Given the description of an element on the screen output the (x, y) to click on. 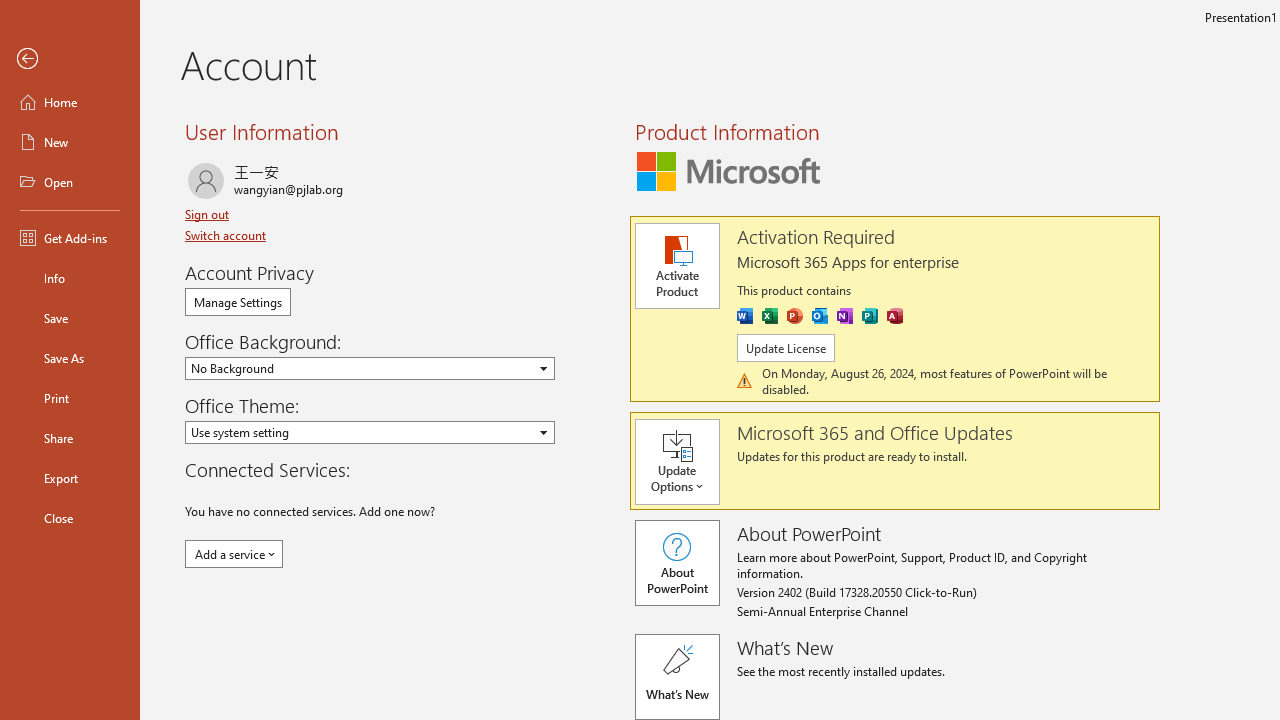
New (69, 141)
Sign out (208, 214)
Office Background (370, 368)
Back (69, 59)
Print (69, 398)
Get Add-ins (69, 237)
Update License (785, 348)
Outlook (819, 316)
